Given the description of an element on the screen output the (x, y) to click on. 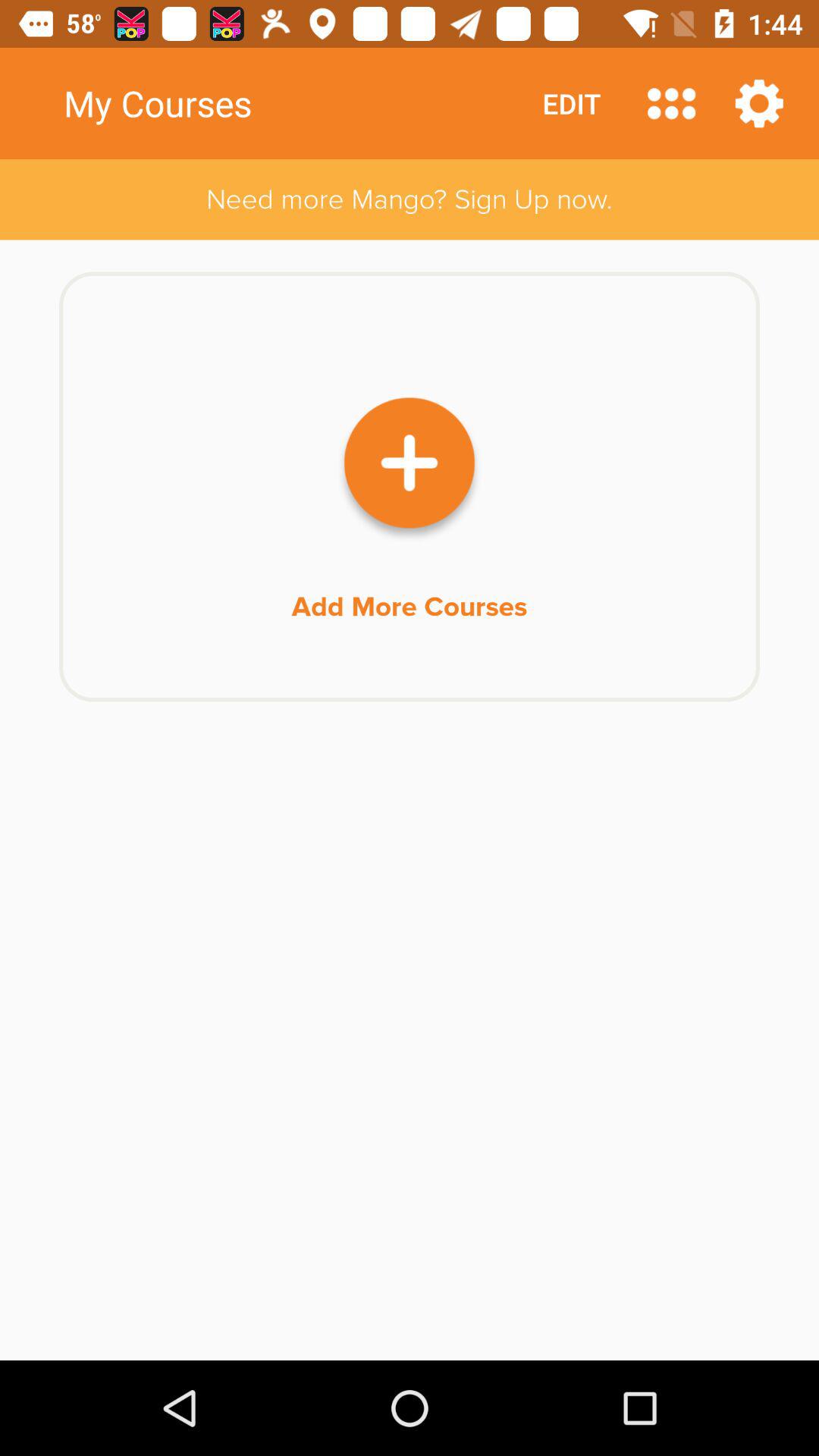
turn on the item above need more mango icon (671, 103)
